Given the description of an element on the screen output the (x, y) to click on. 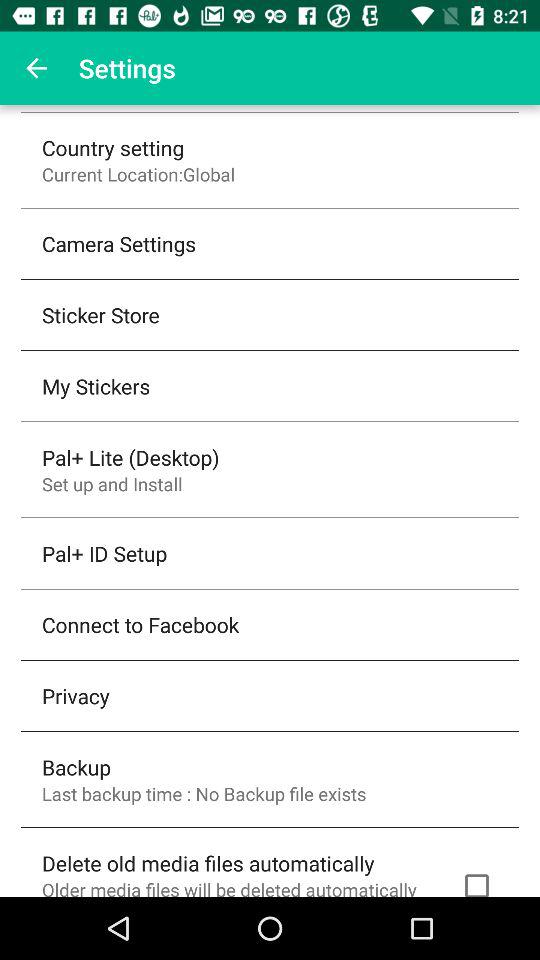
swipe until the camera settings icon (119, 243)
